Given the description of an element on the screen output the (x, y) to click on. 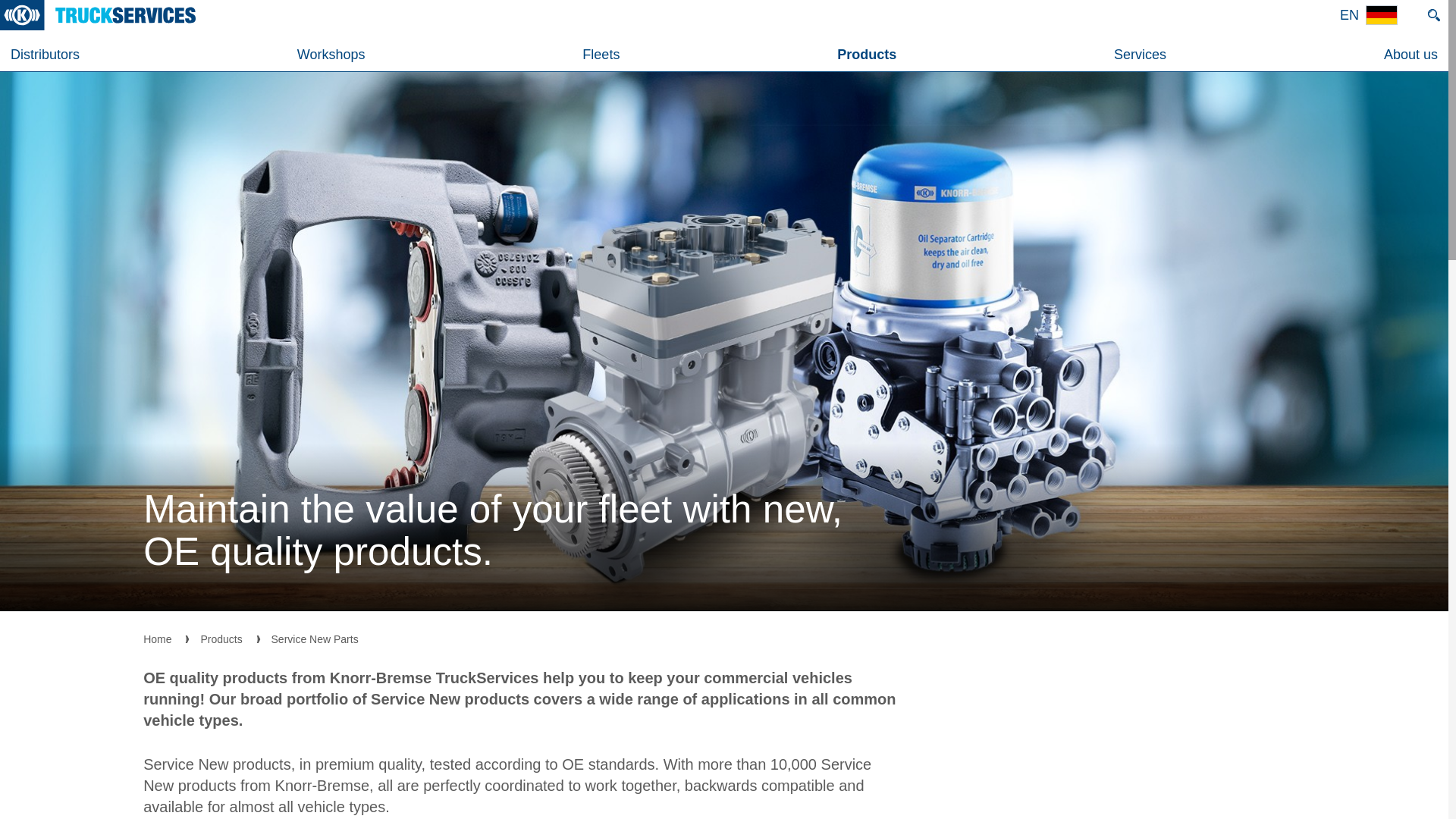
Fleets (601, 54)
Workshops (330, 54)
Distributors (45, 54)
